Given the description of an element on the screen output the (x, y) to click on. 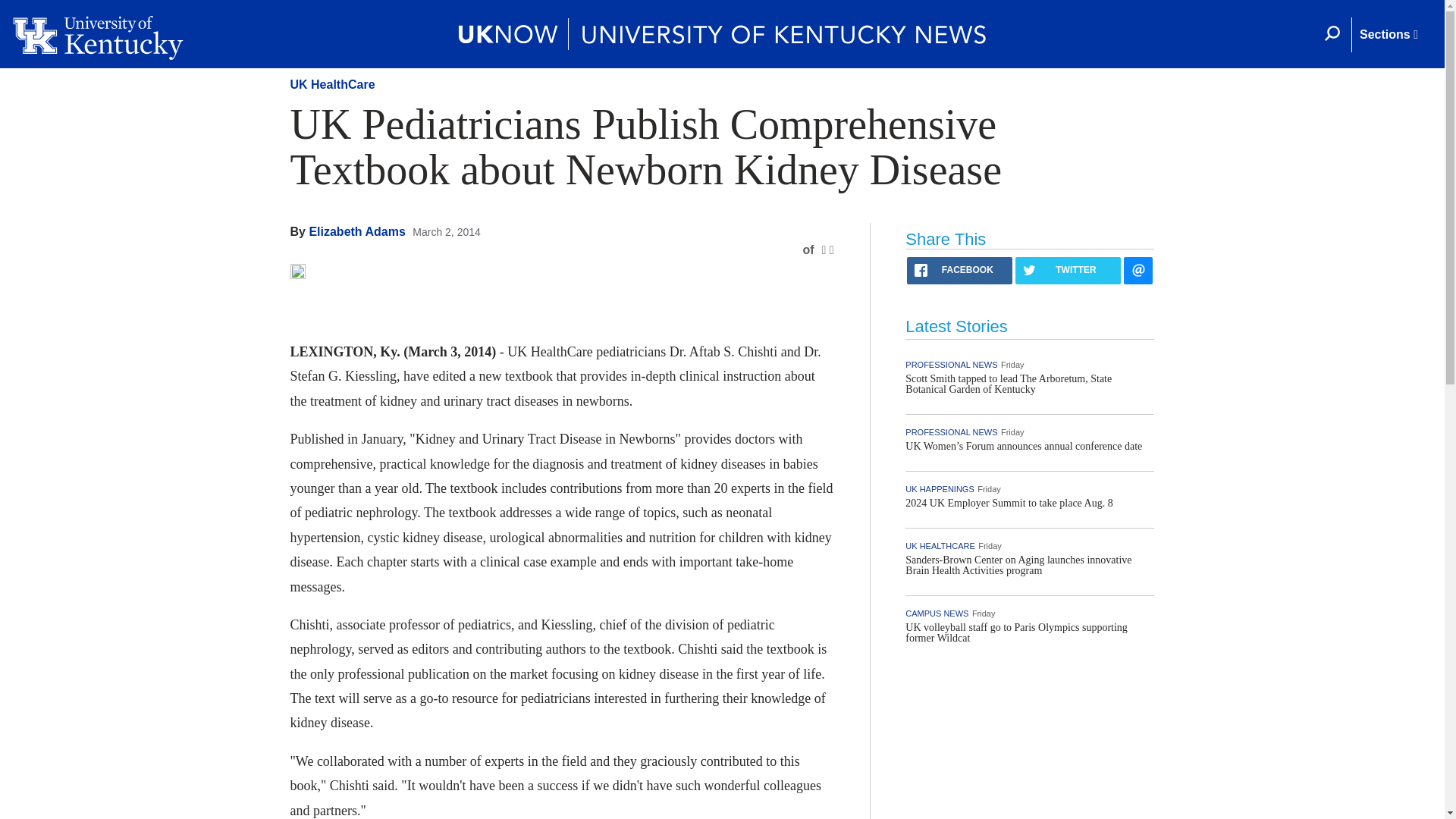
TWITTER (1067, 270)
FACEBOOK (959, 270)
2024 UK Employer Summit to take place Aug. 8 (1008, 502)
Sections (1388, 34)
UK HealthCare (331, 83)
Section navigation menu (1388, 34)
Elizabeth Adams (356, 231)
